Given the description of an element on the screen output the (x, y) to click on. 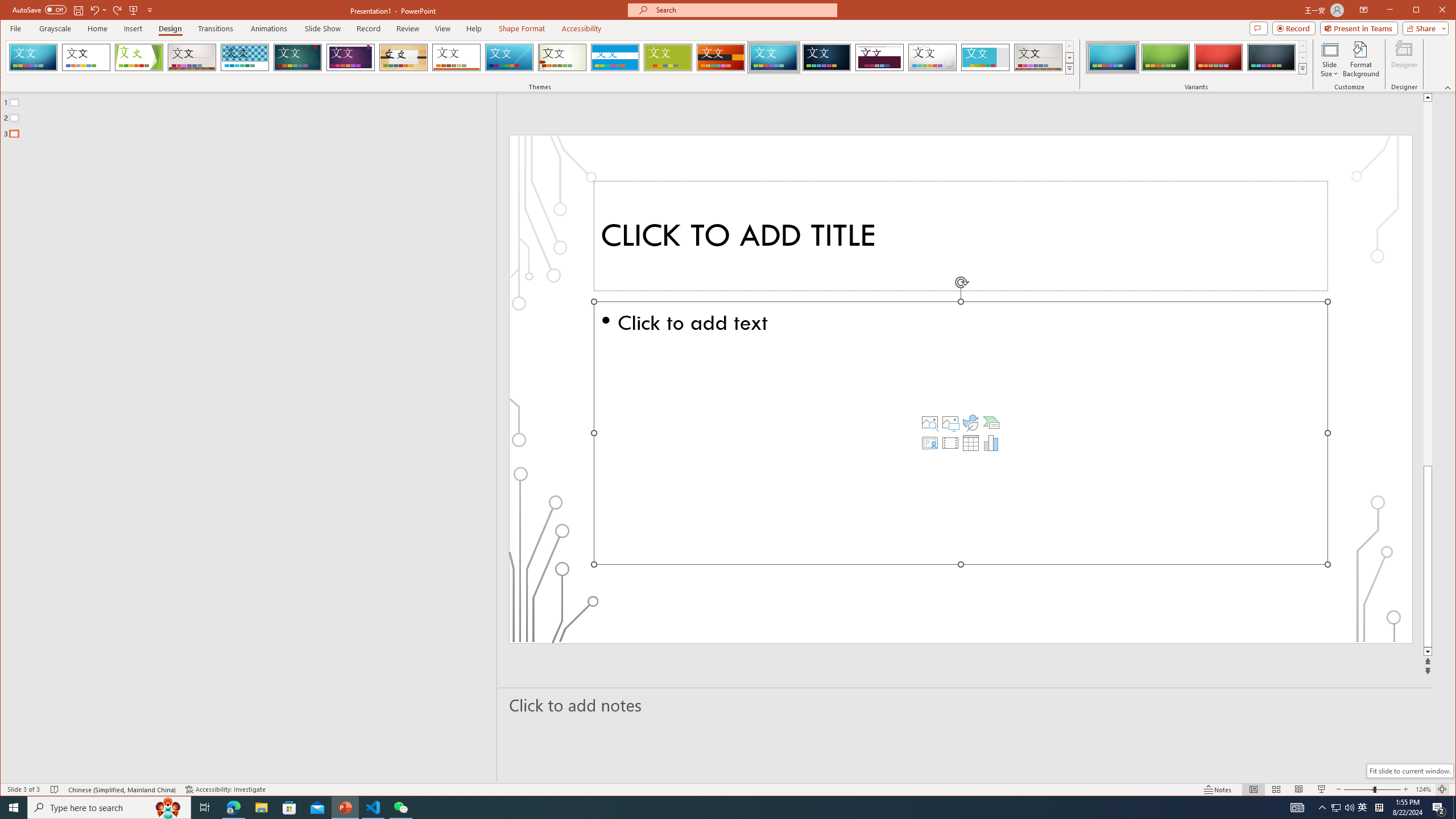
Zoom 124% (1422, 789)
Circuit Variant 1 (1112, 57)
Organic (403, 57)
Retrospect (456, 57)
Slice (509, 57)
Frame (985, 57)
Banded (615, 57)
